Given the description of an element on the screen output the (x, y) to click on. 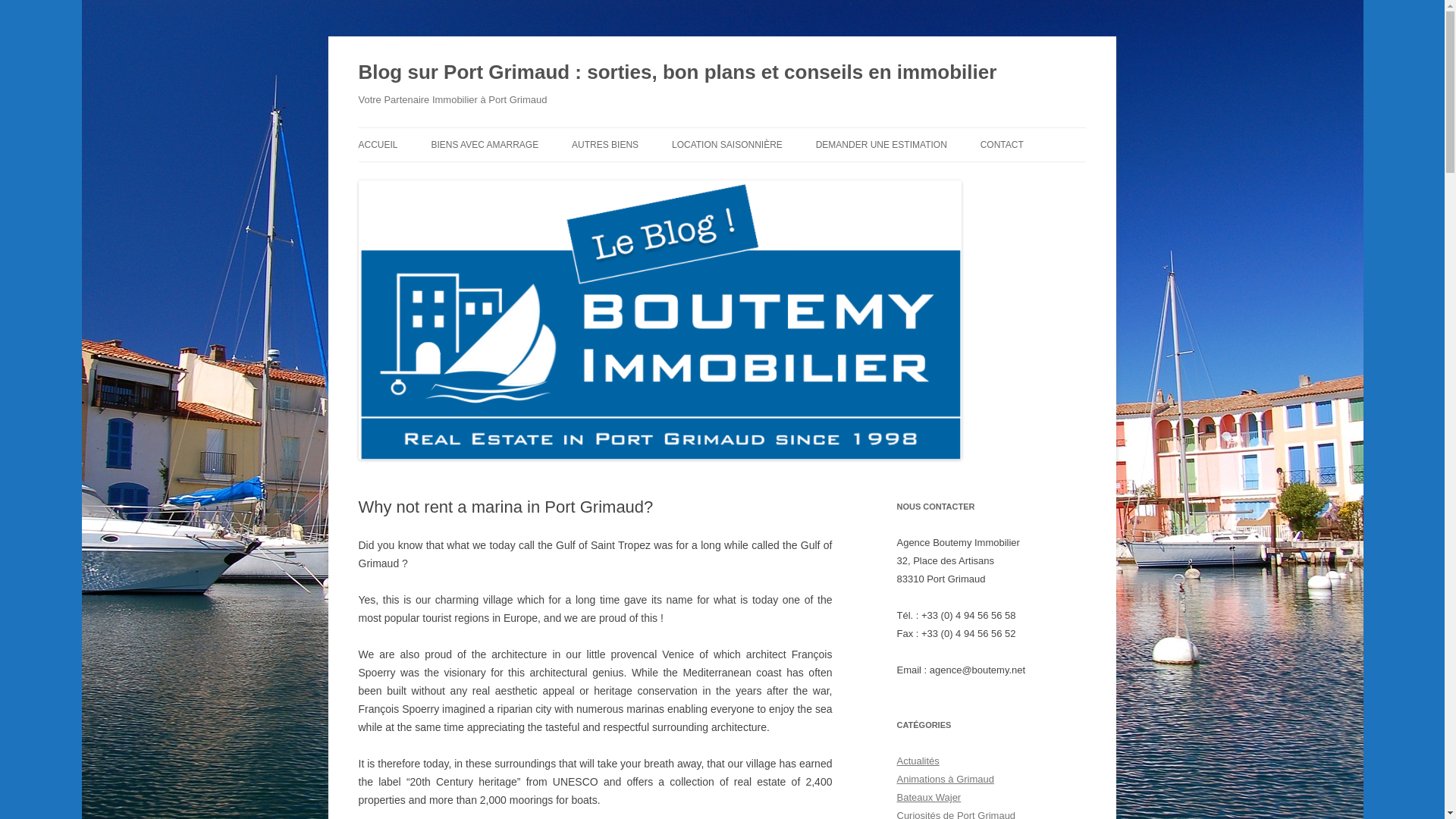
AUTRES BIENS (605, 144)
DEMANDER UNE ESTIMATION (881, 144)
Bateaux Wajer (928, 797)
MAISONS (506, 176)
BIENS AVEC AMARRAGE (484, 144)
ACCUEIL (377, 144)
CONTACT (1001, 144)
